Given the description of an element on the screen output the (x, y) to click on. 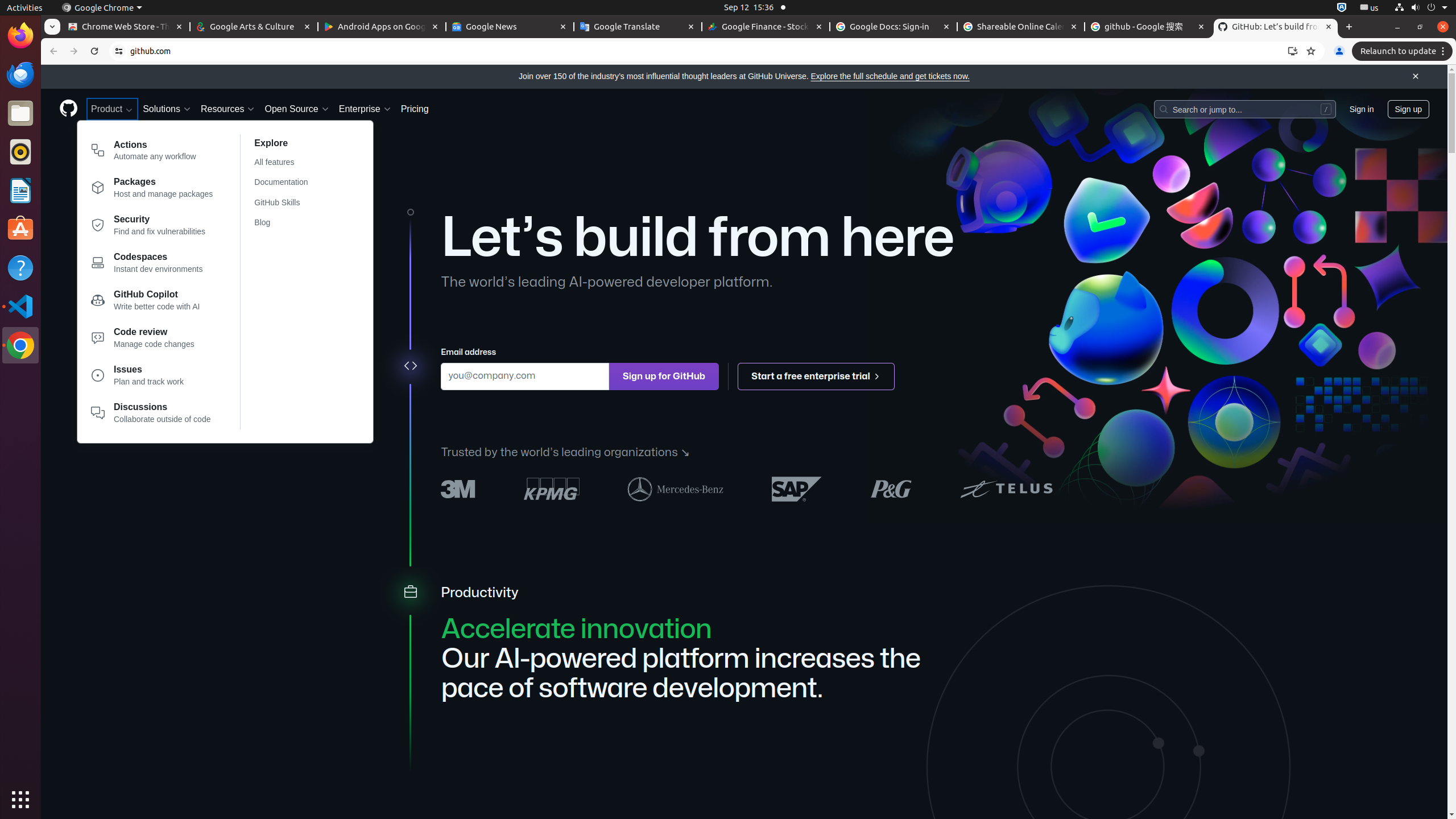
github - Google 搜索 - Memory usage - 111 MB Element type: page-tab (1148, 26)
Relaunch to update Element type: push-button (1403, 50)
Forward Element type: push-button (73, 50)
Visual Studio Code Element type: push-button (20, 306)
Google News - Memory usage - 51.2 MB Element type: page-tab (509, 26)
